Given the description of an element on the screen output the (x, y) to click on. 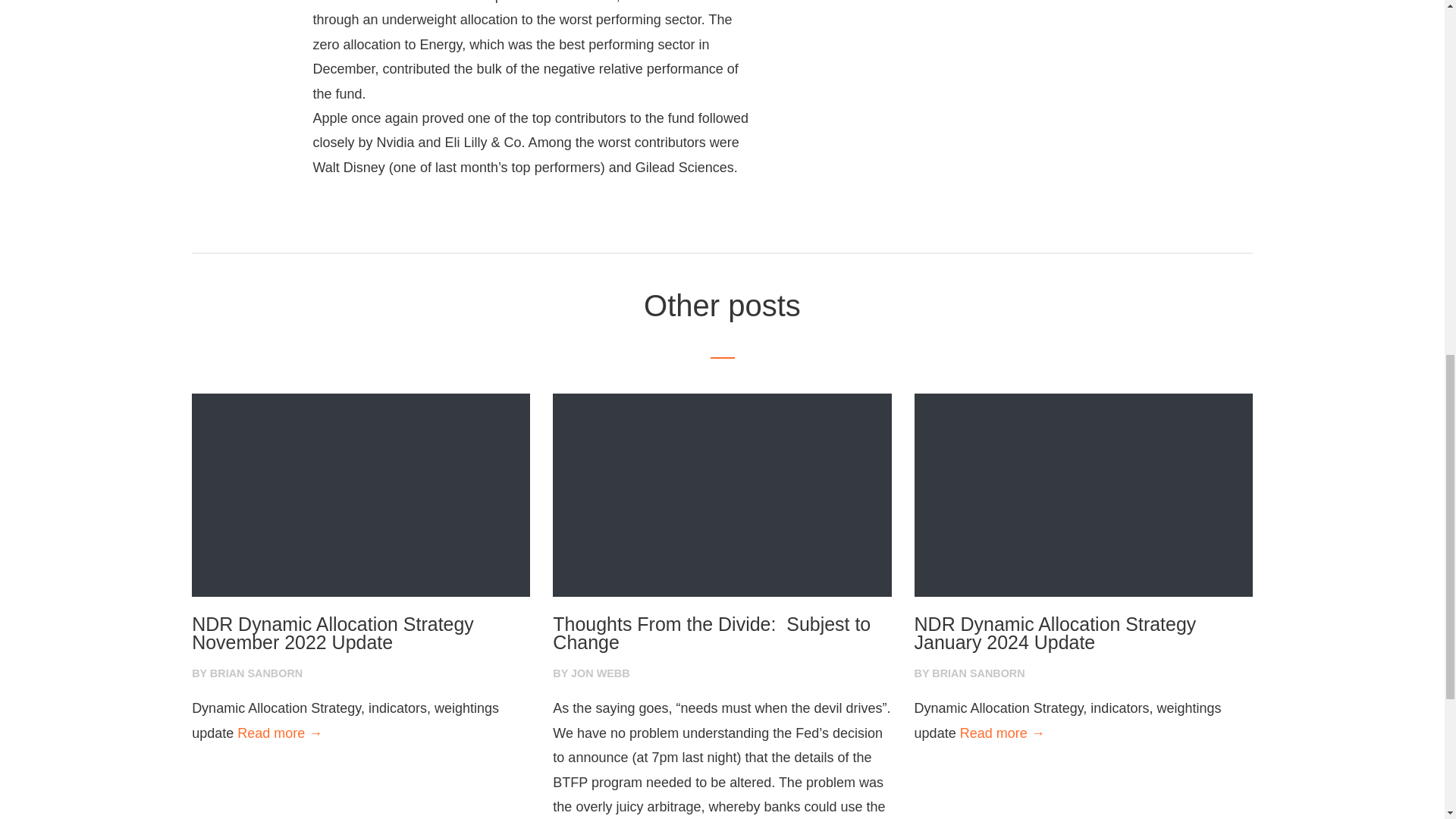
NDR Dynamic Allocation Strategy January 2024 Update (1083, 633)
NDR Dynamic Allocation Strategy November 2022 Update (360, 633)
